Given the description of an element on the screen output the (x, y) to click on. 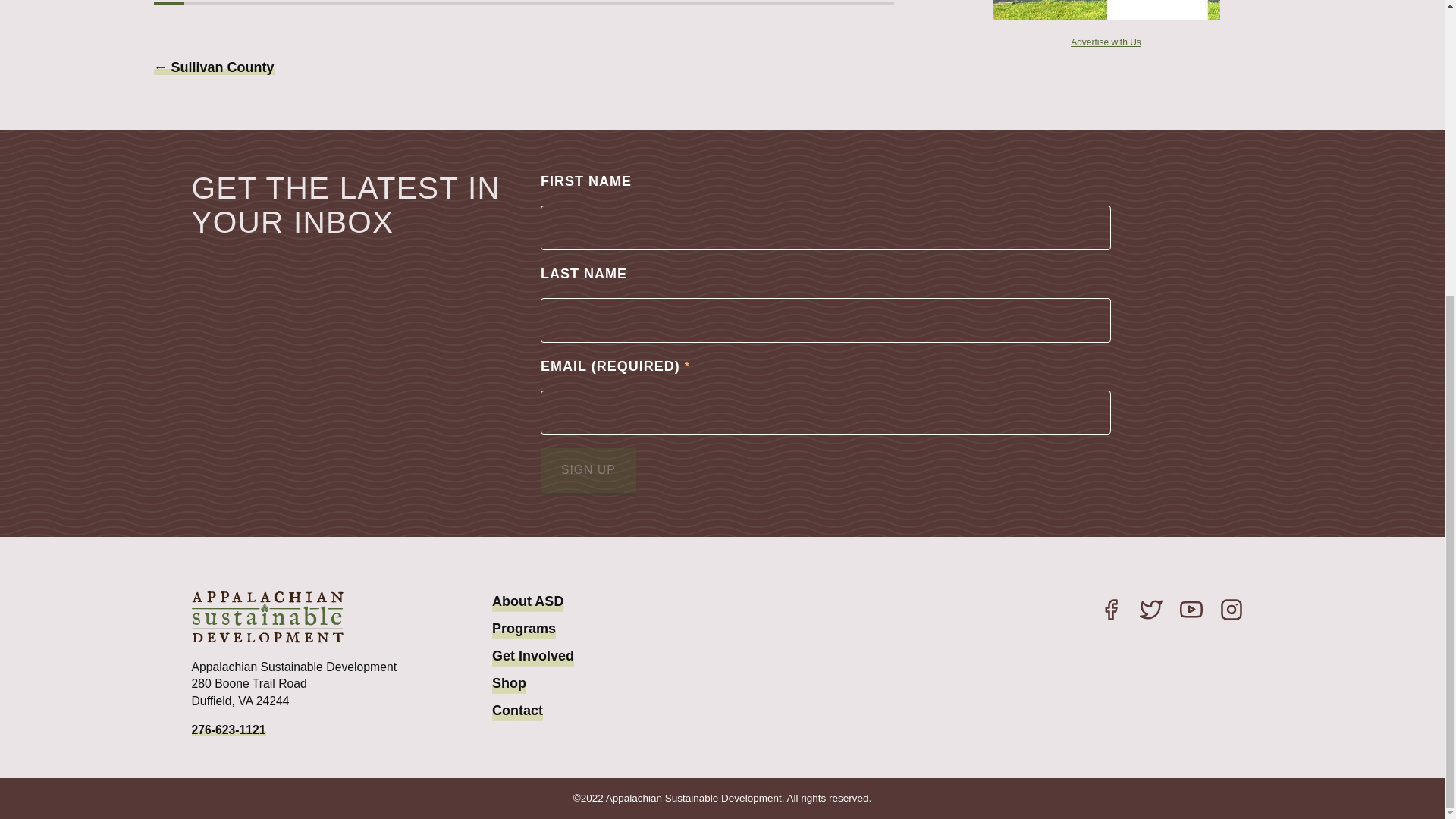
Sign up (588, 471)
